Given the description of an element on the screen output the (x, y) to click on. 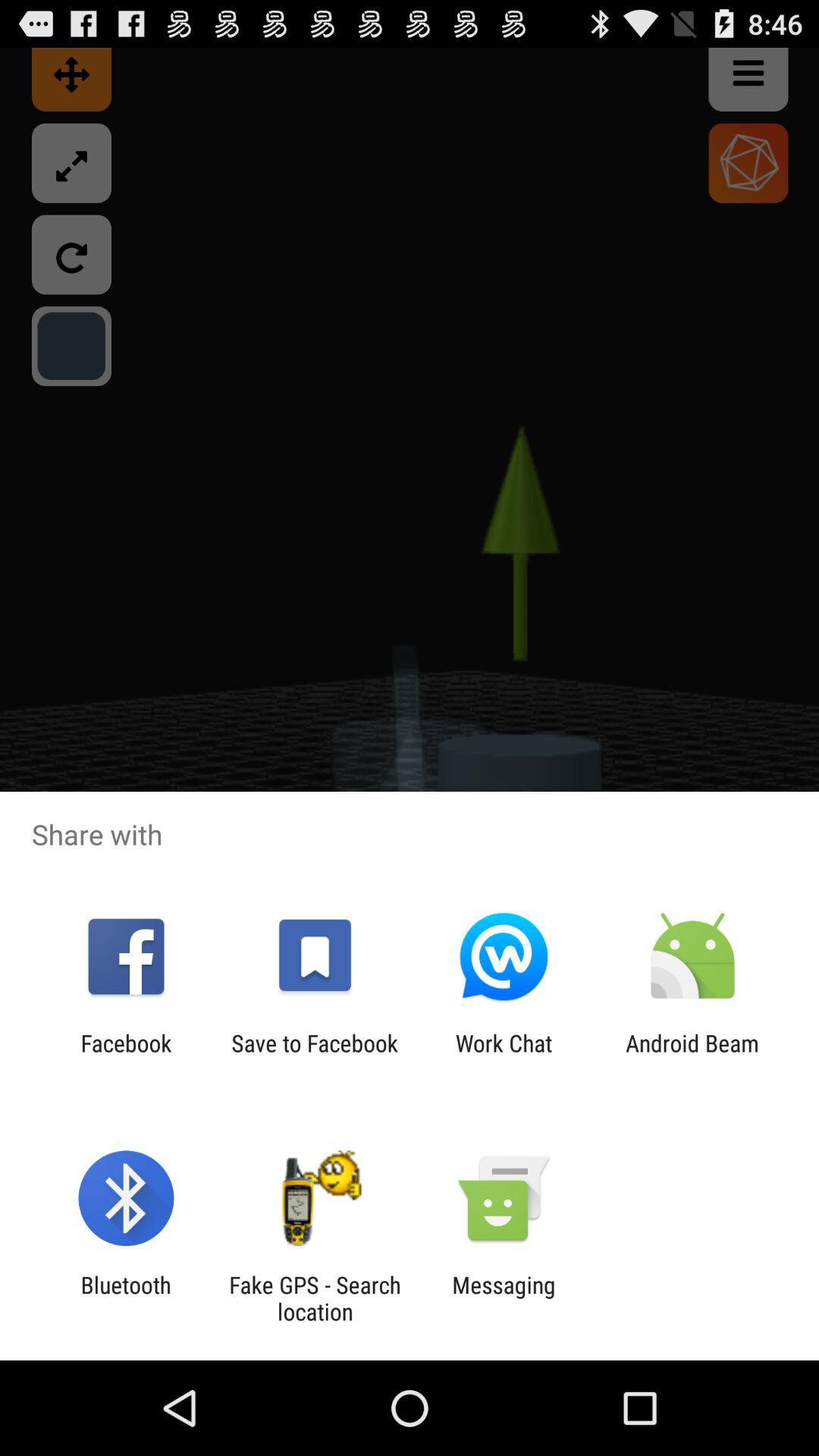
launch the icon to the right of the work chat item (692, 1056)
